Given the description of an element on the screen output the (x, y) to click on. 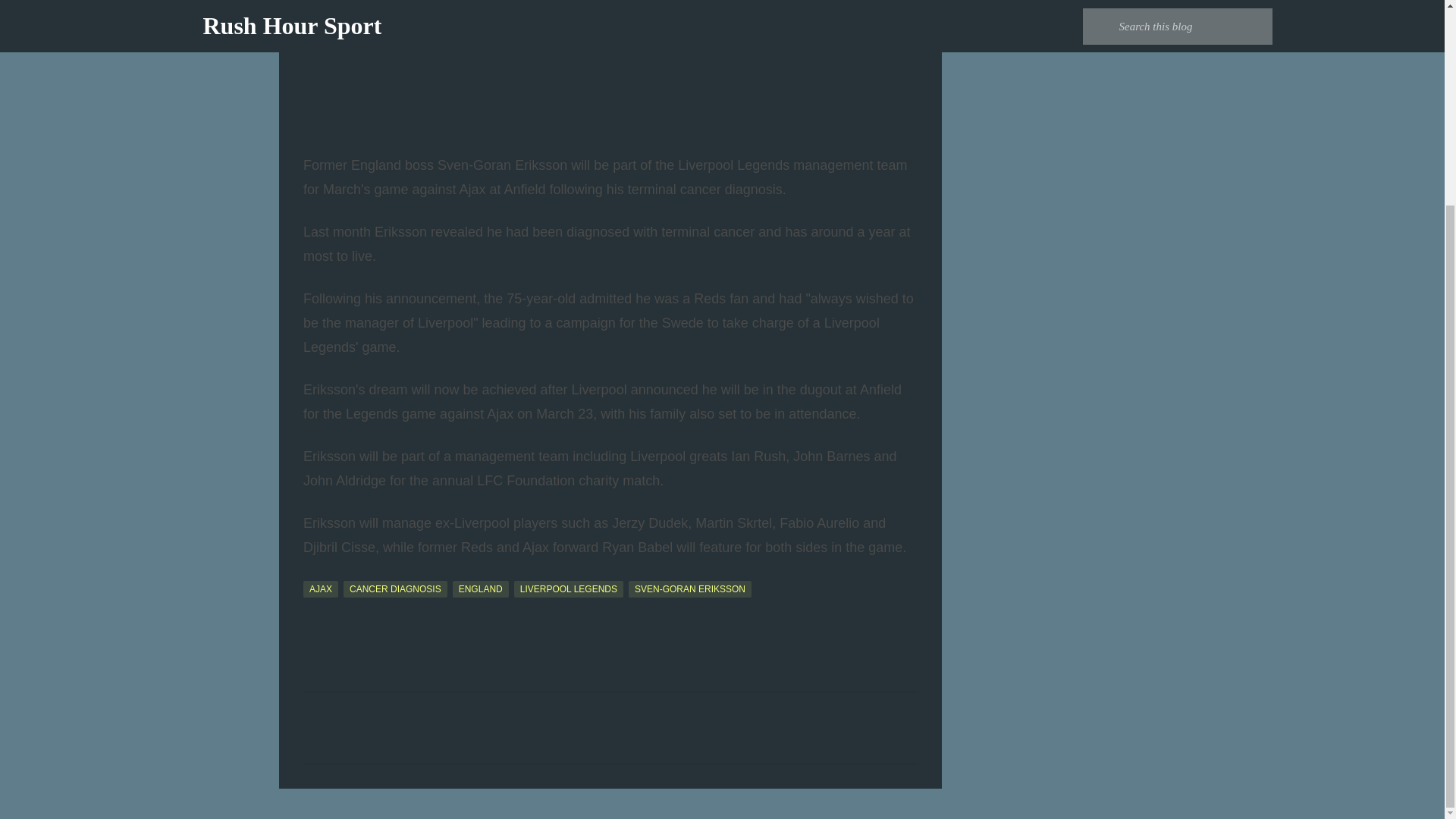
LIVERPOOL LEGENDS (568, 588)
revealed he had been diagnosed with terminal cancer (592, 231)
CANCER DIAGNOSIS (394, 588)
AJAX (319, 588)
ENGLAND (480, 588)
SVEN-GORAN ERIKSSON (689, 588)
